Given the description of an element on the screen output the (x, y) to click on. 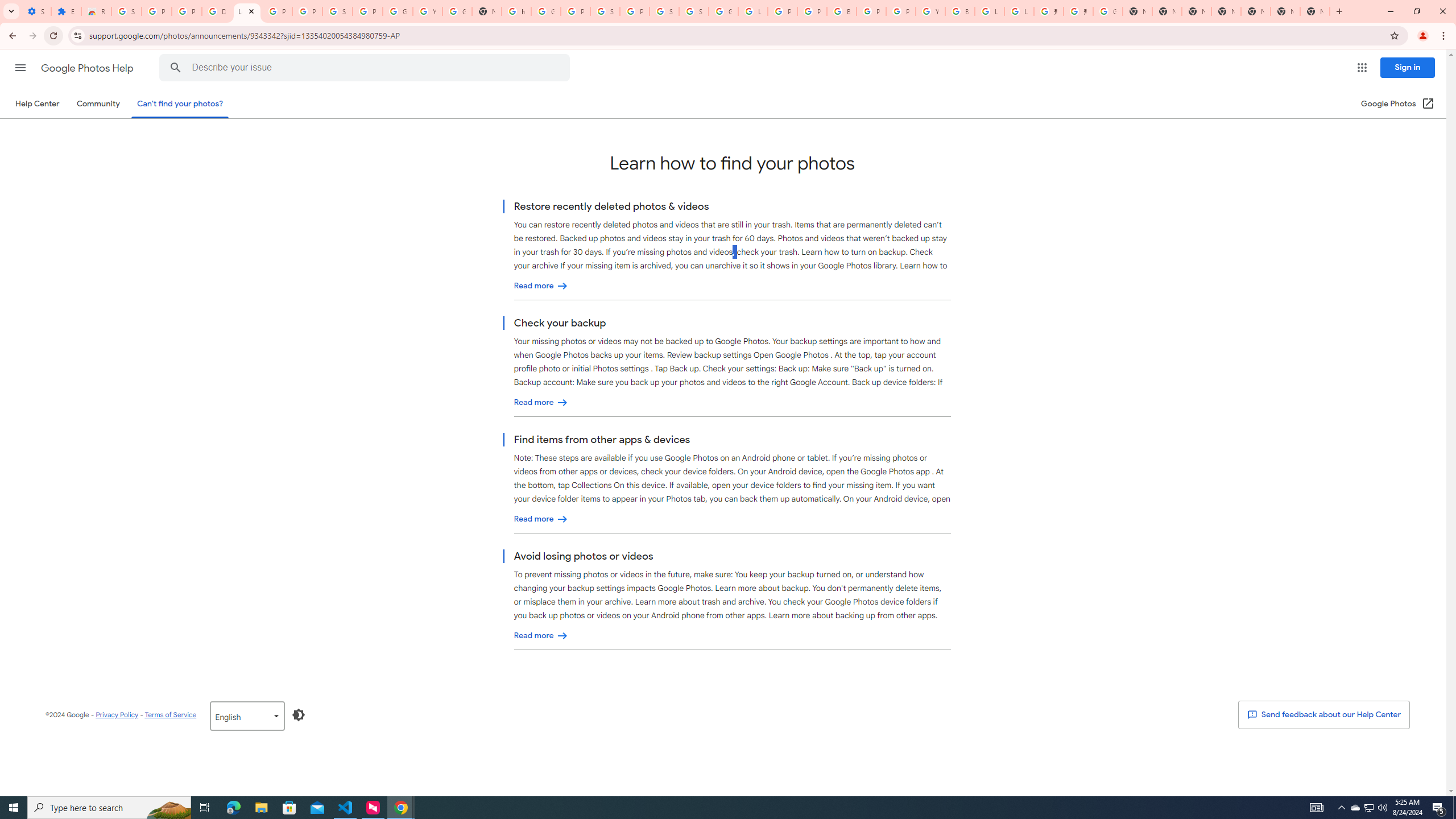
Check your backup (541, 402)
Community (97, 103)
Sign in - Google Accounts (126, 11)
Sign in - Google Accounts (693, 11)
